Given the description of an element on the screen output the (x, y) to click on. 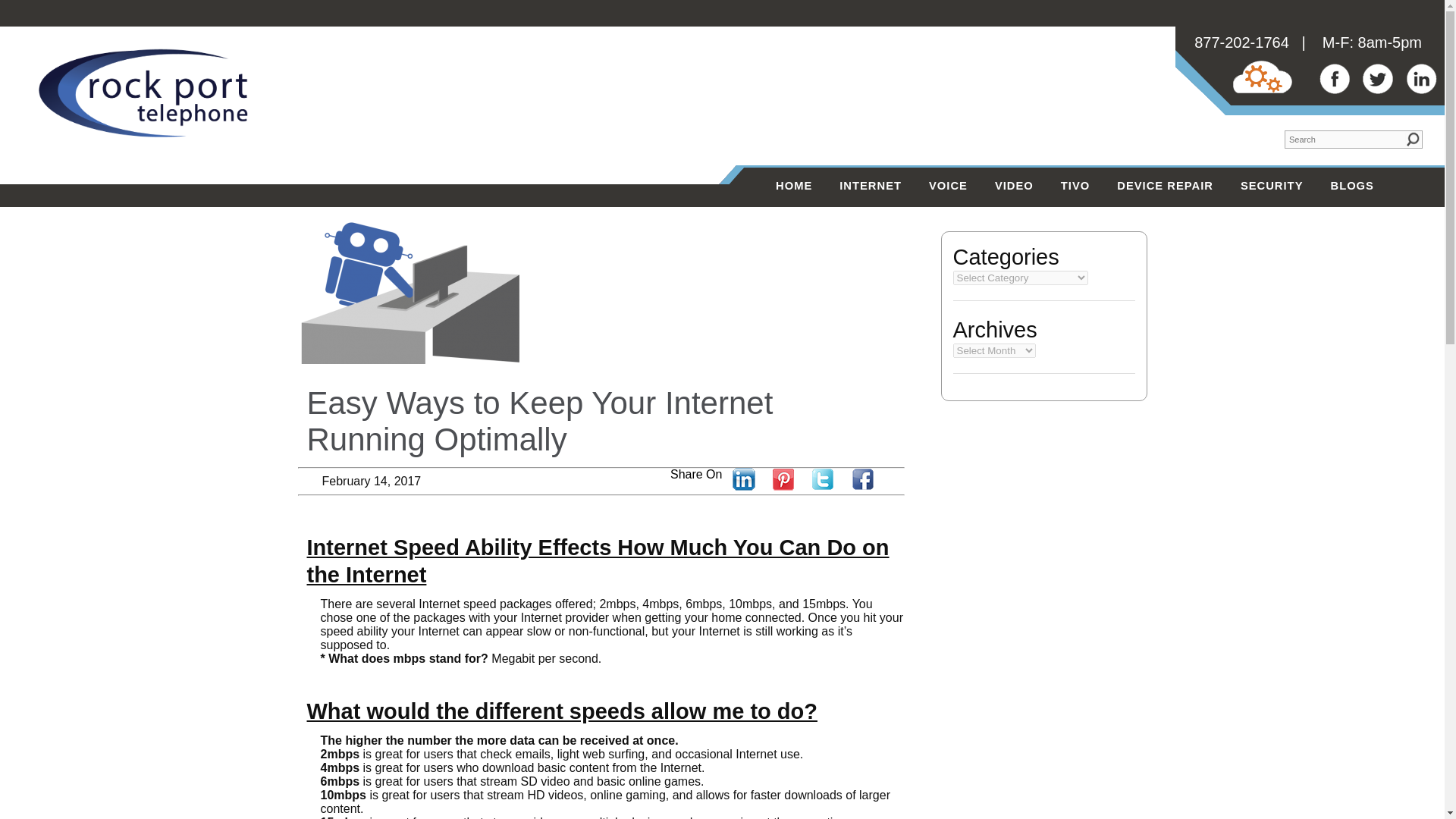
Easy Ways to Keep Your Internet Running Optimally (539, 420)
Easy Ways to Keep Your Internet Running Optimally (539, 420)
VOICE (948, 187)
Share On   (699, 473)
CONTACT (804, 226)
INTERNET (870, 187)
SECURITY (1272, 187)
VIDEO (1013, 187)
BLOGS (1351, 187)
